Given the description of an element on the screen output the (x, y) to click on. 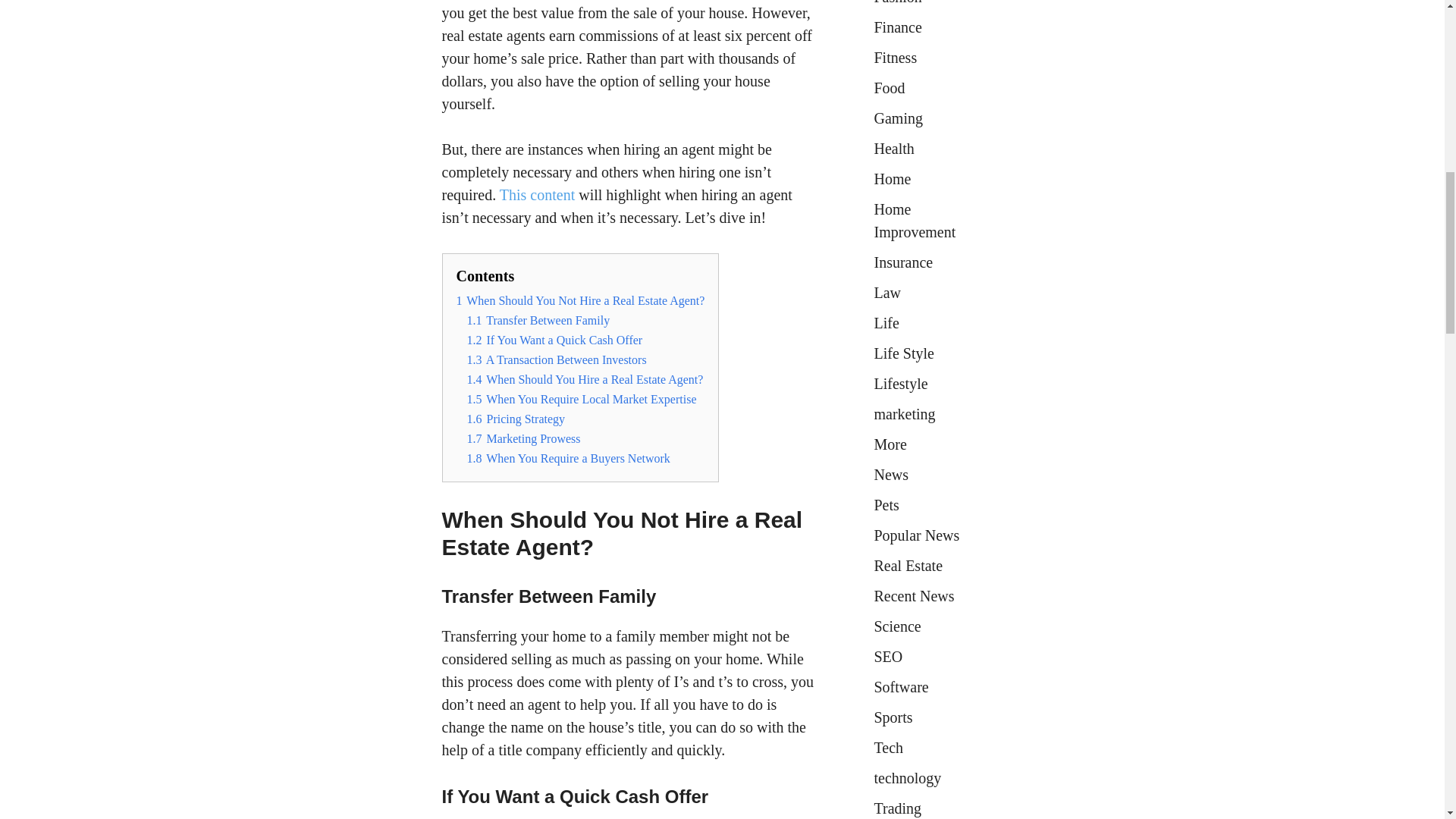
1.8 When You Require a Buyers Network (568, 458)
1.3 A Transaction Between Investors (556, 359)
1.1 Transfer Between Family (538, 319)
1.7 Marketing Prowess (523, 438)
1 When Should You Not Hire a Real Estate Agent? (580, 300)
1.5 When You Require Local Market Expertise (582, 399)
This content (535, 194)
1.4 When Should You Hire a Real Estate Agent? (585, 379)
1.6 Pricing Strategy (516, 418)
1.2 If You Want a Quick Cash Offer (555, 339)
